Given the description of an element on the screen output the (x, y) to click on. 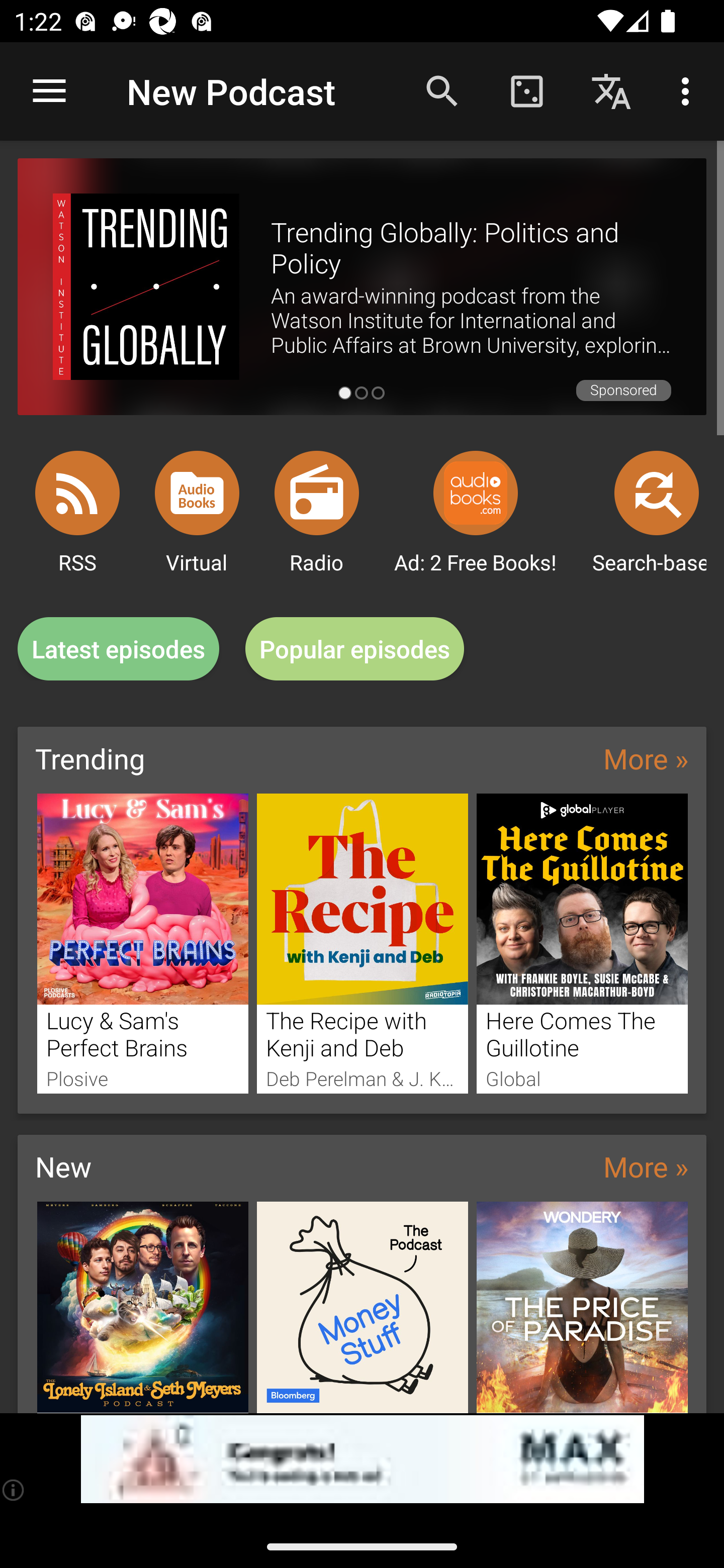
Open navigation sidebar (49, 91)
Search (442, 90)
Random pick (526, 90)
Podcast languages (611, 90)
More options (688, 90)
RSS (77, 492)
Virtual (196, 492)
Radio (316, 492)
Search-based (656, 492)
Latest episodes (118, 648)
Popular episodes (354, 648)
More » (645, 757)
Lucy & Sam's Perfect Brains Plosive (142, 942)
Here Comes The Guillotine Global (581, 942)
More » (645, 1166)
The Lonely Island and Seth Meyers Podcast (142, 1306)
Money Stuff: The Podcast (362, 1306)
The Price of Paradise (581, 1306)
app-monetization (362, 1459)
(i) (14, 1489)
